Given the description of an element on the screen output the (x, y) to click on. 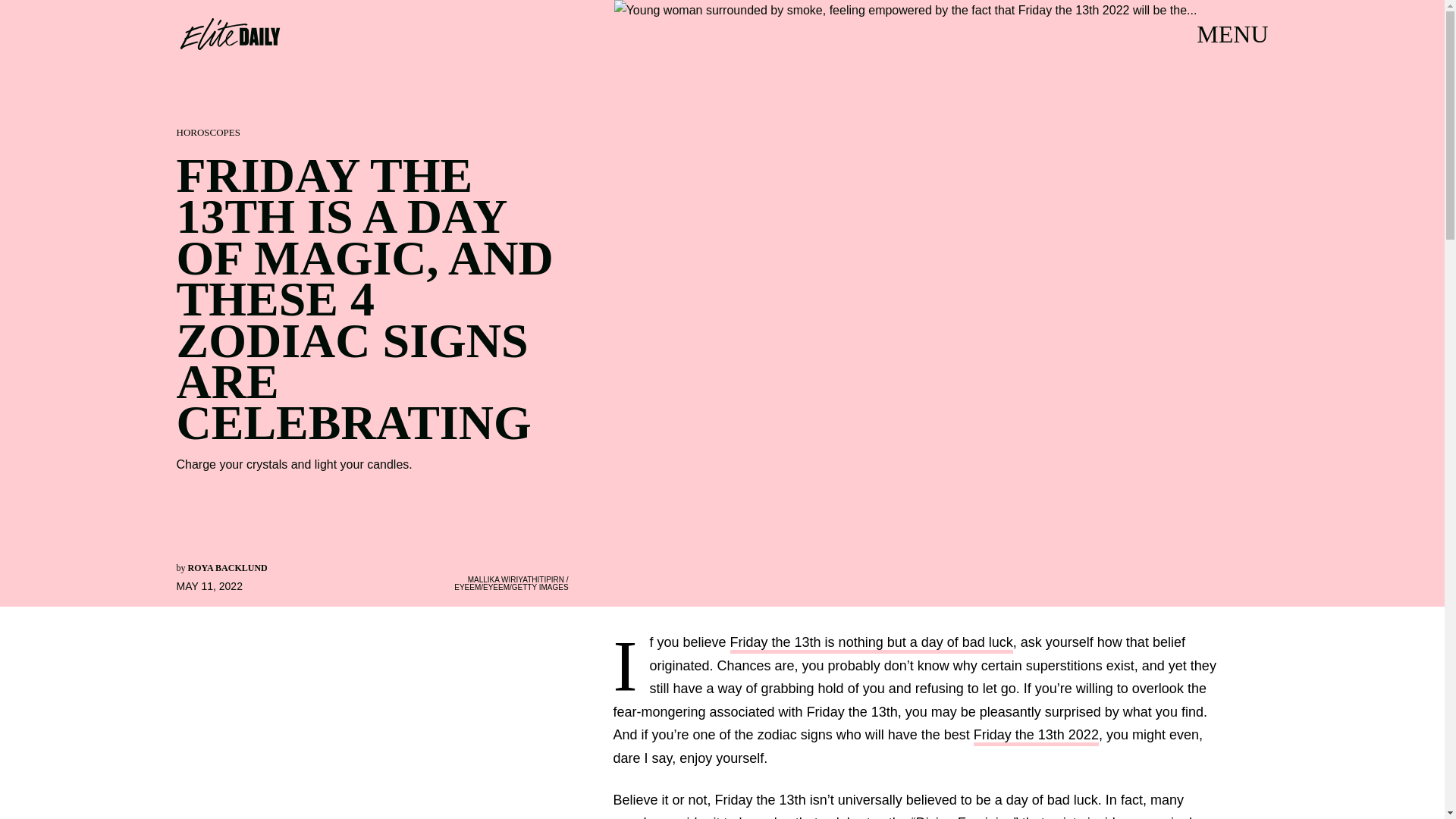
Elite Daily (229, 33)
ROYA BACKLUND (227, 567)
Friday the 13th is nothing but a day of bad luck (871, 643)
Friday the 13th 2022 (1036, 736)
